Given the description of an element on the screen output the (x, y) to click on. 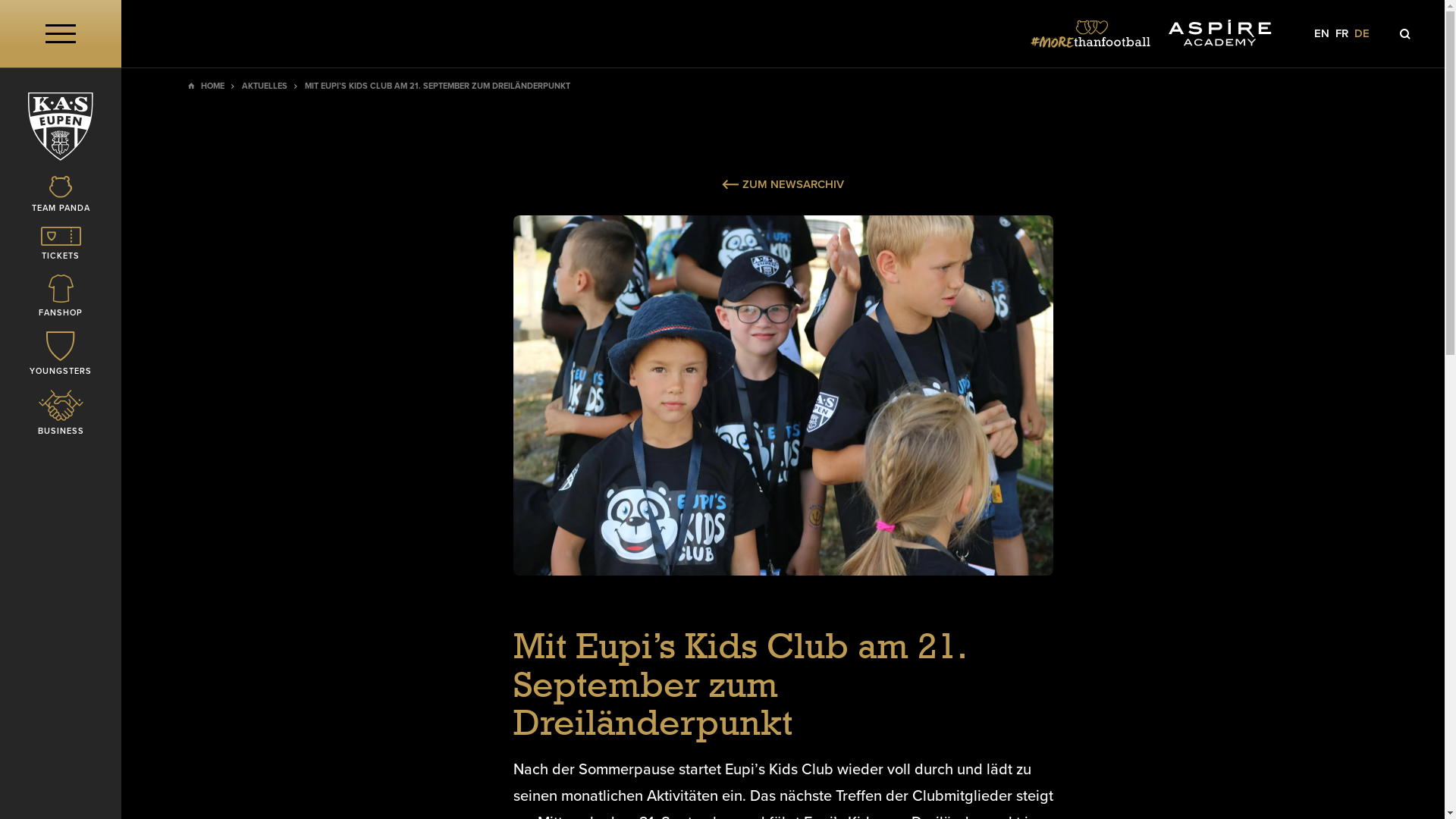
TICKETS Element type: text (60, 244)
BUSINESS Element type: text (60, 413)
FANSHOP Element type: text (60, 296)
AKTUELLES Element type: text (264, 86)
DE Element type: text (1361, 33)
EN Element type: text (1321, 33)
YOUNGSTERS Element type: text (60, 354)
TEAM PANDA Element type: text (60, 194)
HOME Element type: text (212, 86)
FR Element type: text (1341, 33)
ZUM NEWSARCHIV Element type: text (782, 183)
